Given the description of an element on the screen output the (x, y) to click on. 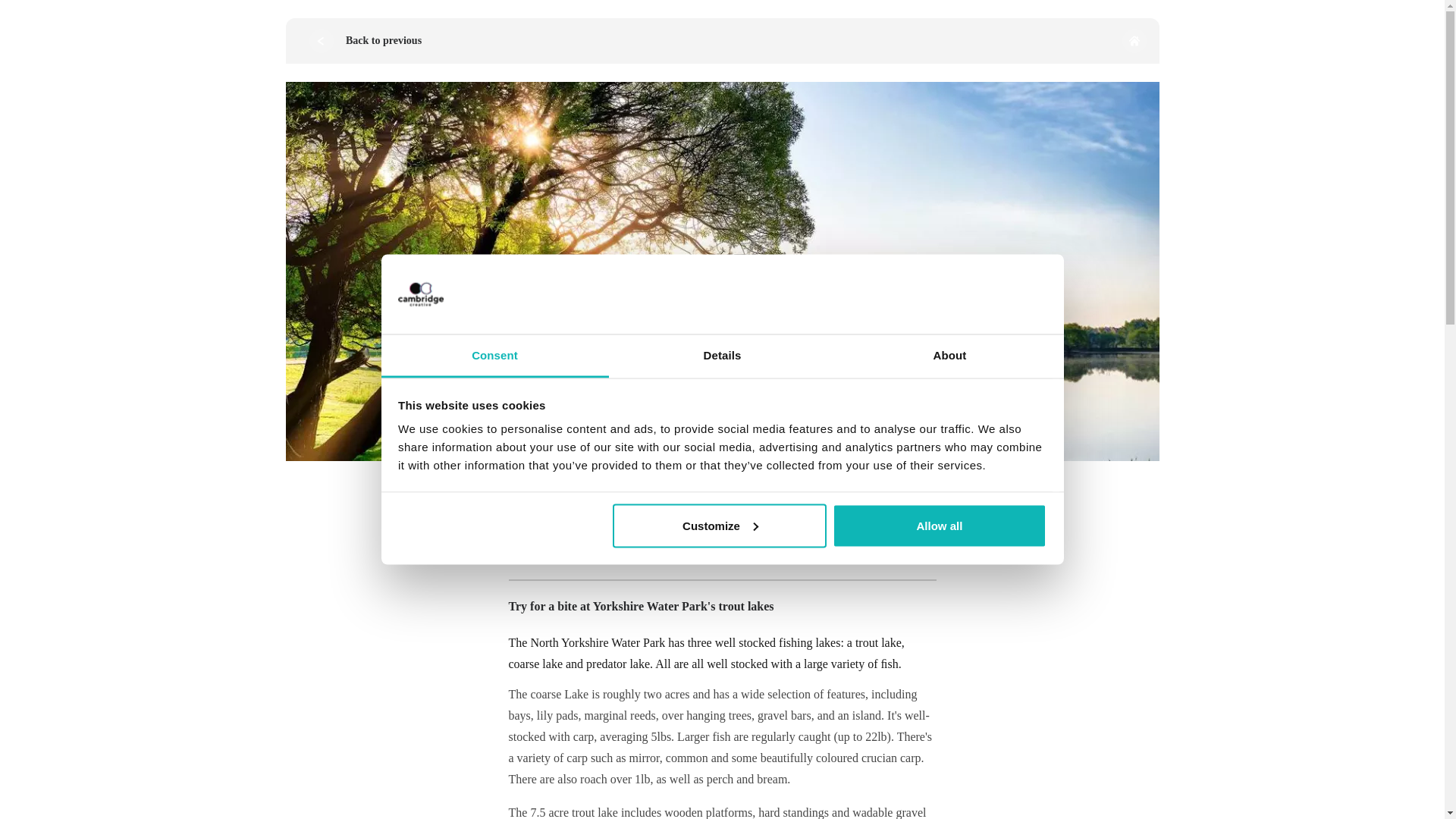
Consent (494, 356)
About (948, 356)
Details (721, 356)
